Given the description of an element on the screen output the (x, y) to click on. 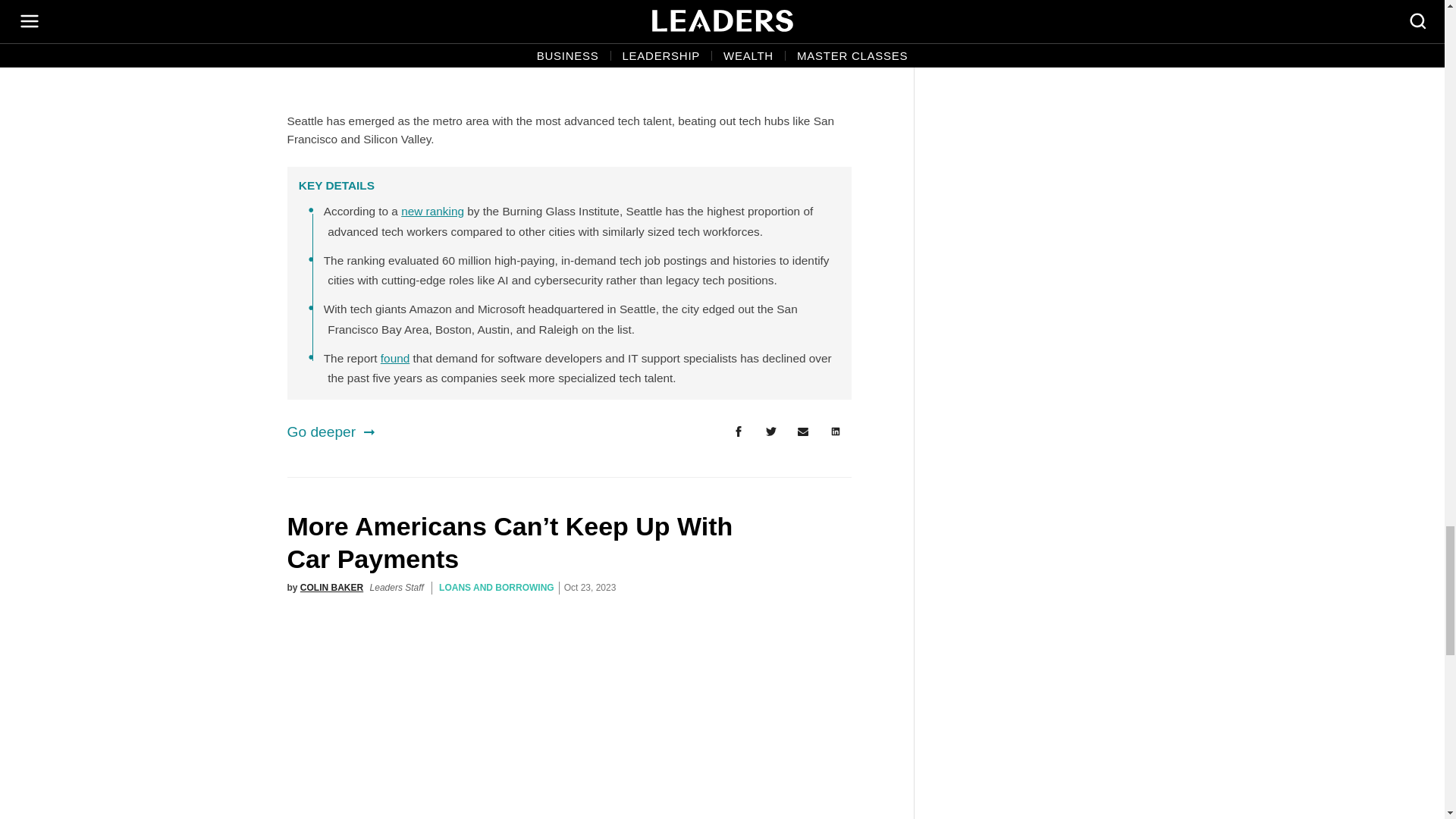
Share on Twitter (770, 431)
Share on LinkedIn (835, 431)
Share on Facebook (738, 431)
Share via Email (803, 431)
